Given the description of an element on the screen output the (x, y) to click on. 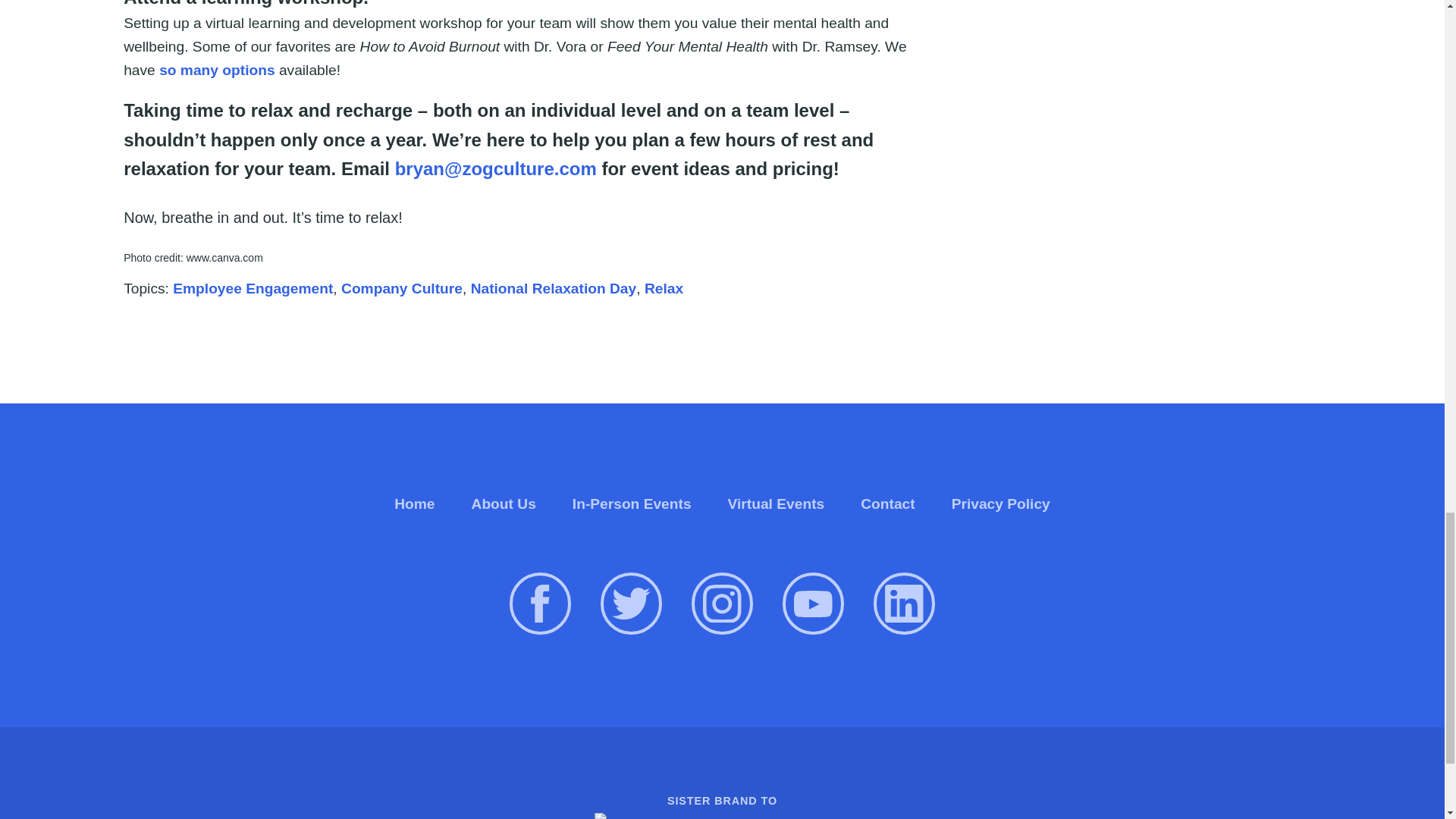
About Us (503, 503)
Relax (663, 288)
so many options (216, 69)
Privacy Policy (1000, 503)
Contact (888, 503)
In-Person Events (632, 503)
Virtual Events (776, 503)
National Relaxation Day (553, 288)
Home (413, 503)
Company Culture (401, 288)
